Given the description of an element on the screen output the (x, y) to click on. 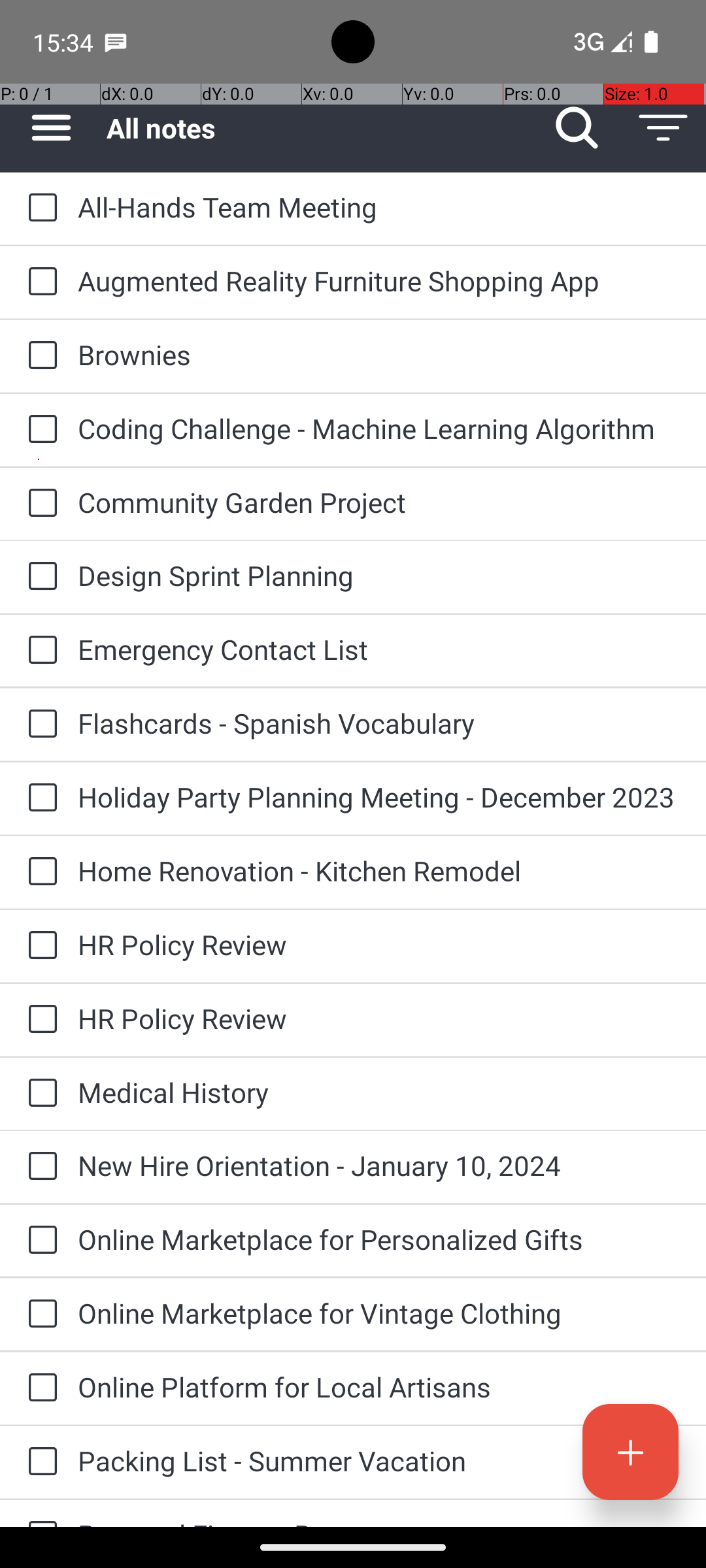
to-do: All-Hands Team Meeting Element type: android.widget.CheckBox (38, 208)
All-Hands Team Meeting Element type: android.widget.TextView (378, 206)
to-do: Augmented Reality Furniture Shopping App Element type: android.widget.CheckBox (38, 282)
Augmented Reality Furniture Shopping App Element type: android.widget.TextView (378, 280)
to-do: Brownies Element type: android.widget.CheckBox (38, 356)
Brownies Element type: android.widget.TextView (378, 354)
to-do: Coding Challenge - Machine Learning Algorithm Element type: android.widget.CheckBox (38, 429)
Coding Challenge - Machine Learning Algorithm Element type: android.widget.TextView (378, 427)
to-do: Community Garden Project Element type: android.widget.CheckBox (38, 503)
Community Garden Project Element type: android.widget.TextView (378, 501)
to-do: Design Sprint Planning Element type: android.widget.CheckBox (38, 576)
Design Sprint Planning Element type: android.widget.TextView (378, 574)
to-do: Emergency Contact List Element type: android.widget.CheckBox (38, 650)
Emergency Contact List Element type: android.widget.TextView (378, 648)
to-do: Flashcards - Spanish Vocabulary Element type: android.widget.CheckBox (38, 724)
Flashcards - Spanish Vocabulary Element type: android.widget.TextView (378, 722)
to-do: Holiday Party Planning Meeting - December 2023 Element type: android.widget.CheckBox (38, 798)
Holiday Party Planning Meeting - December 2023 Element type: android.widget.TextView (378, 796)
to-do: Home Renovation - Kitchen Remodel Element type: android.widget.CheckBox (38, 872)
Home Renovation - Kitchen Remodel Element type: android.widget.TextView (378, 870)
to-do: HR Policy Review Element type: android.widget.CheckBox (38, 945)
HR Policy Review Element type: android.widget.TextView (378, 944)
to-do: Medical History Element type: android.widget.CheckBox (38, 1093)
Medical History Element type: android.widget.TextView (378, 1091)
to-do: New Hire Orientation - January 10, 2024 Element type: android.widget.CheckBox (38, 1166)
New Hire Orientation - January 10, 2024 Element type: android.widget.TextView (378, 1164)
to-do: Online Marketplace for Personalized Gifts Element type: android.widget.CheckBox (38, 1240)
Online Marketplace for Personalized Gifts Element type: android.widget.TextView (378, 1238)
to-do: Online Marketplace for Vintage Clothing Element type: android.widget.CheckBox (38, 1314)
Online Marketplace for Vintage Clothing Element type: android.widget.TextView (378, 1312)
to-do: Online Platform for Local Artisans Element type: android.widget.CheckBox (38, 1388)
Online Platform for Local Artisans Element type: android.widget.TextView (378, 1386)
to-do: Packing List - Summer Vacation Element type: android.widget.CheckBox (38, 1462)
Packing List - Summer Vacation Element type: android.widget.TextView (378, 1460)
to-do: Personal Finance Resources Element type: android.widget.CheckBox (38, 1513)
Personal Finance Resources Element type: android.widget.TextView (378, 1520)
